Given the description of an element on the screen output the (x, y) to click on. 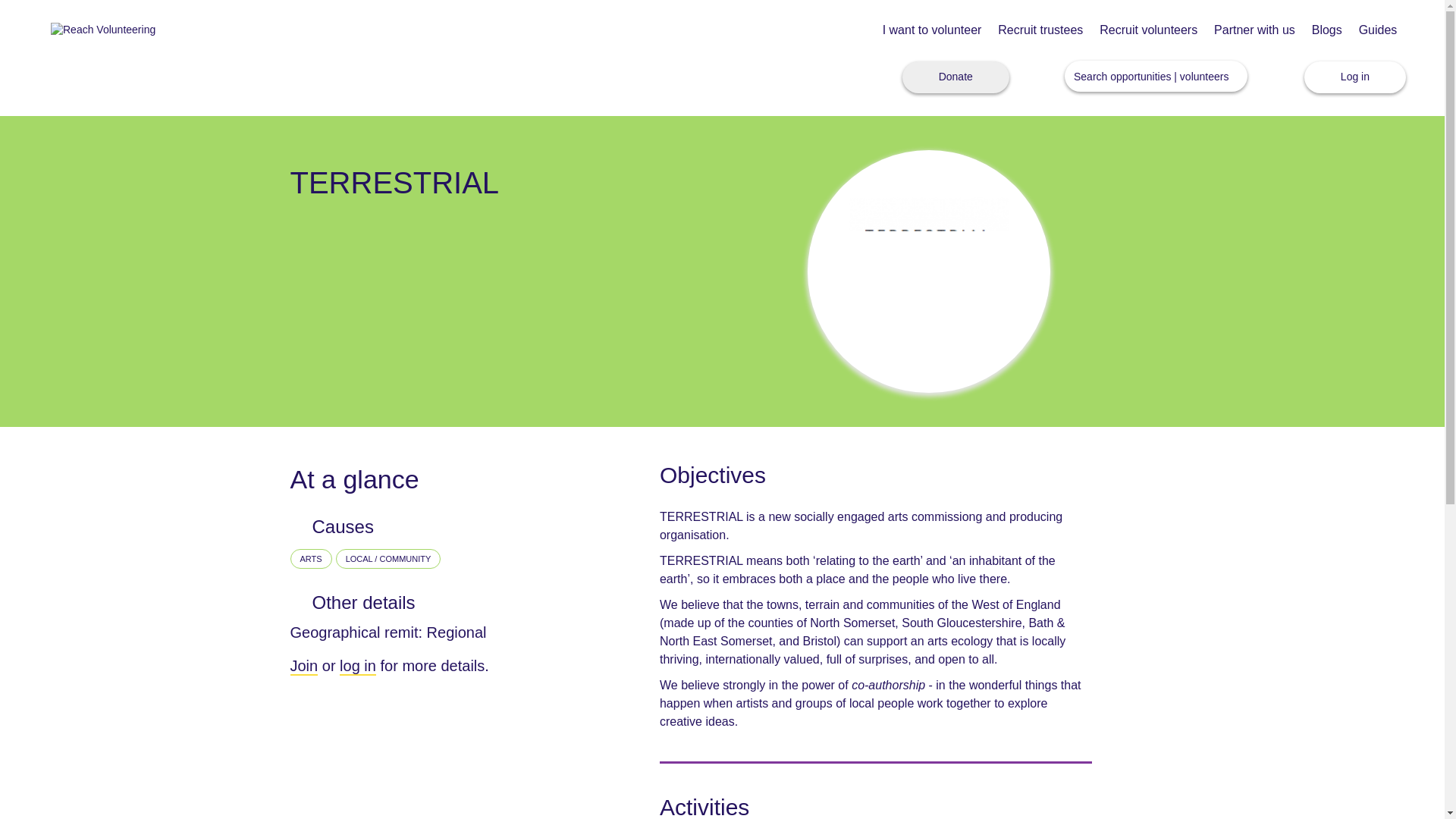
Blogs (1326, 29)
Guides (1377, 29)
I want to volunteer (931, 29)
opportunities (1139, 76)
Donate (955, 77)
log in (357, 666)
volunteers (1203, 76)
Home (102, 29)
Log in (1355, 77)
